Given the description of an element on the screen output the (x, y) to click on. 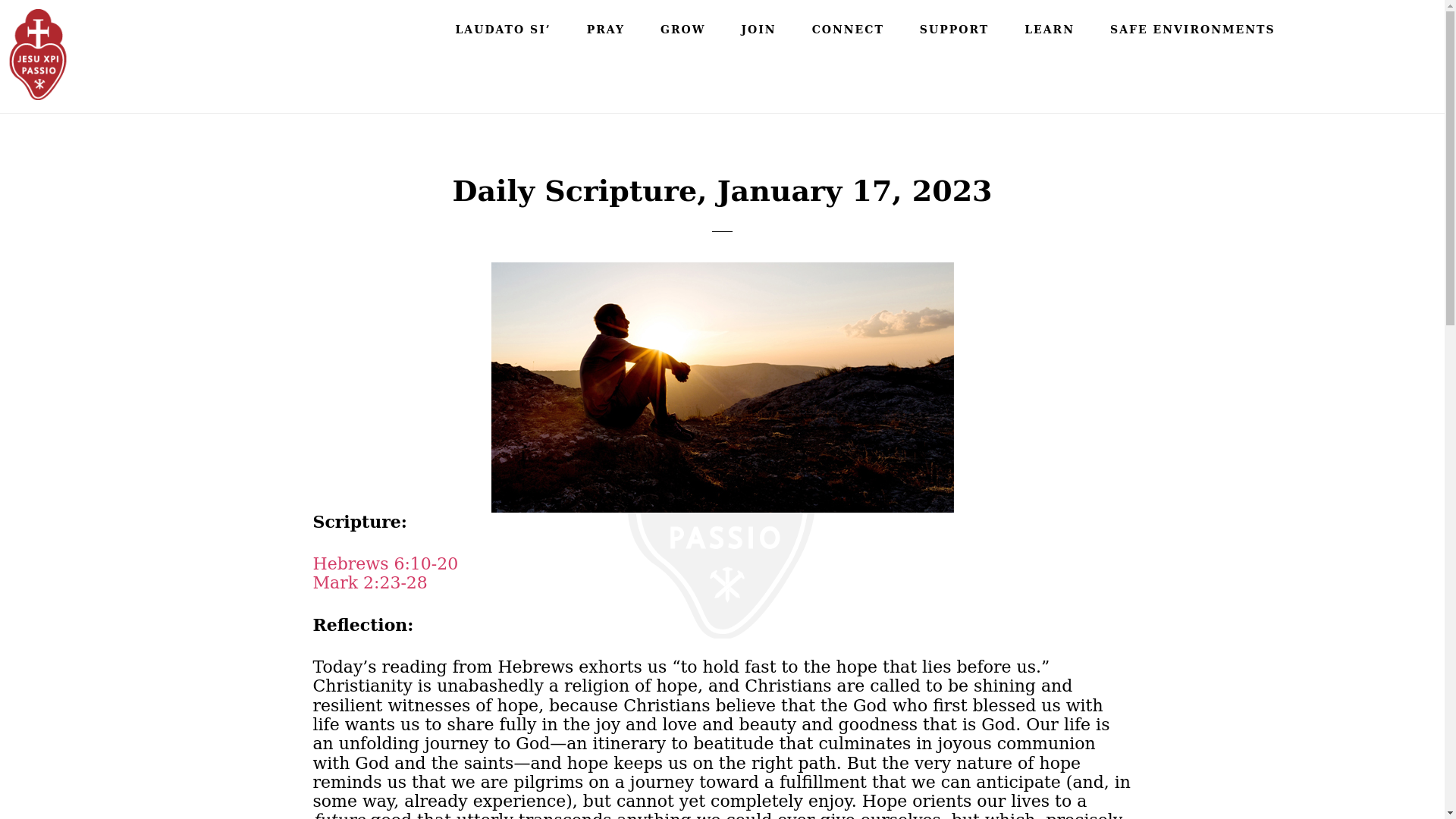
PRAY (606, 29)
GROW (682, 29)
